Given the description of an element on the screen output the (x, y) to click on. 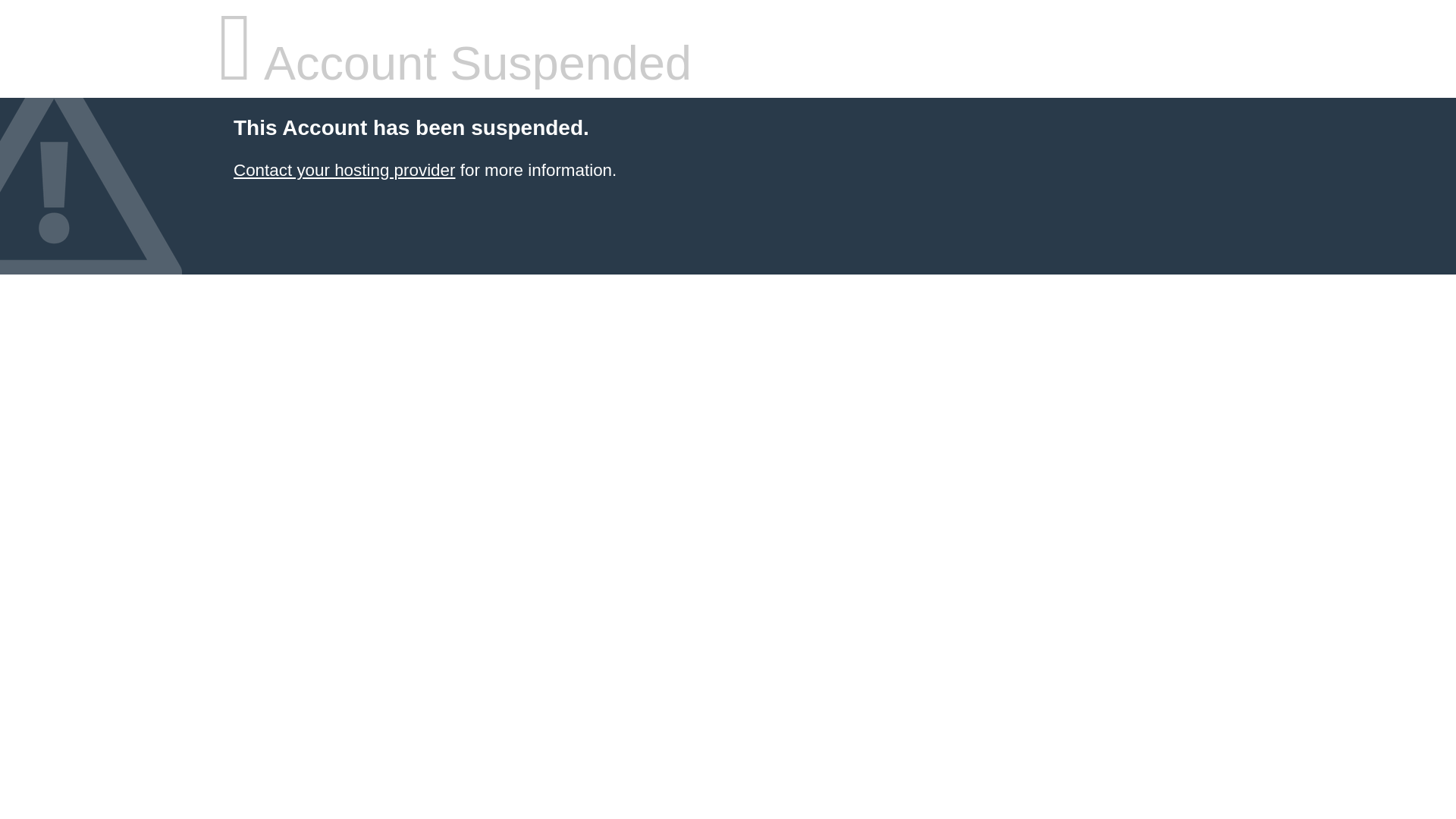
Contact your hosting provider (343, 169)
